Given the description of an element on the screen output the (x, y) to click on. 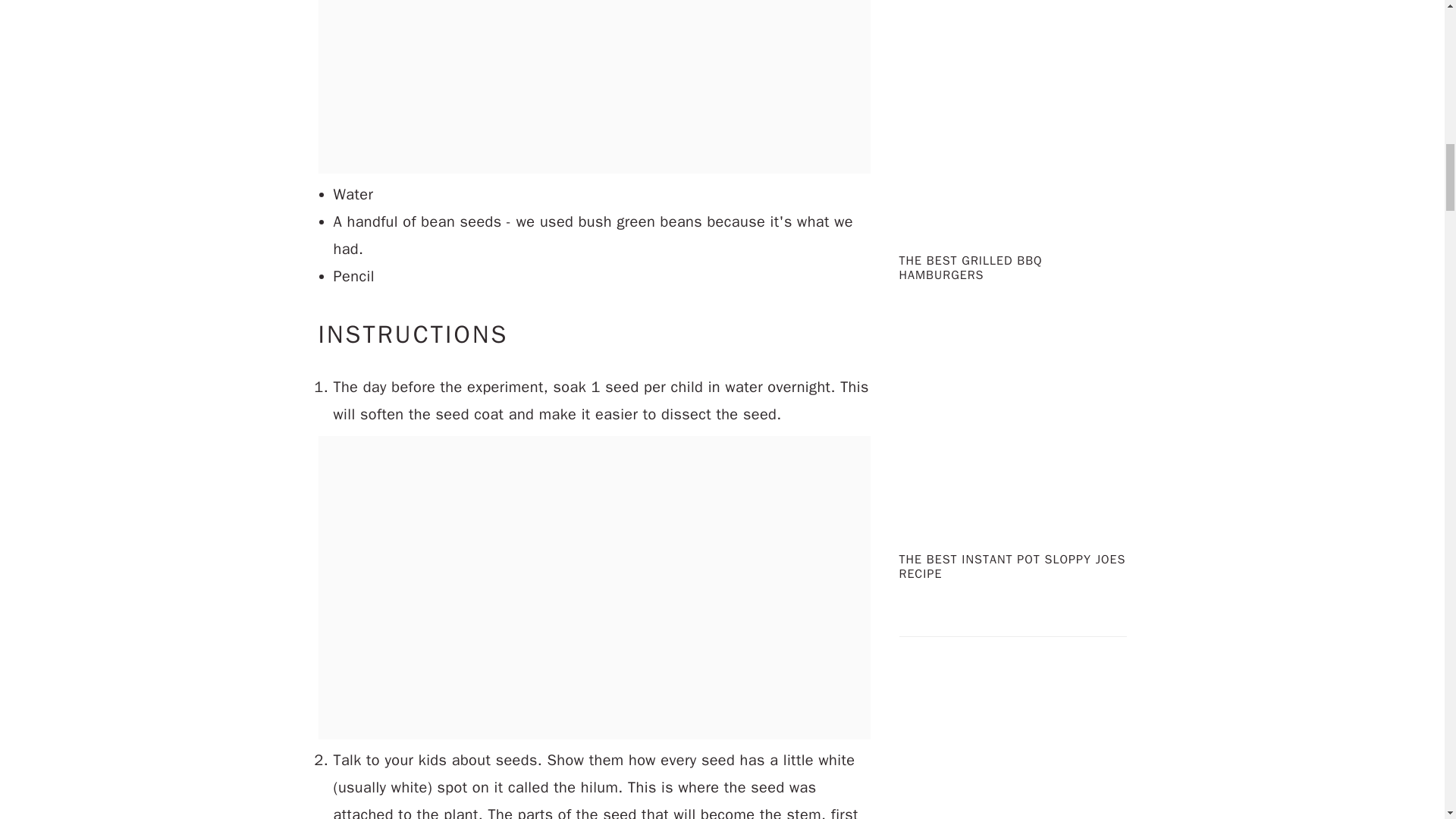
The Best Instant Pot Sloppy Joes Recipe (1012, 525)
The Best Grilled BBQ Hamburgers (1012, 226)
